Given the description of an element on the screen output the (x, y) to click on. 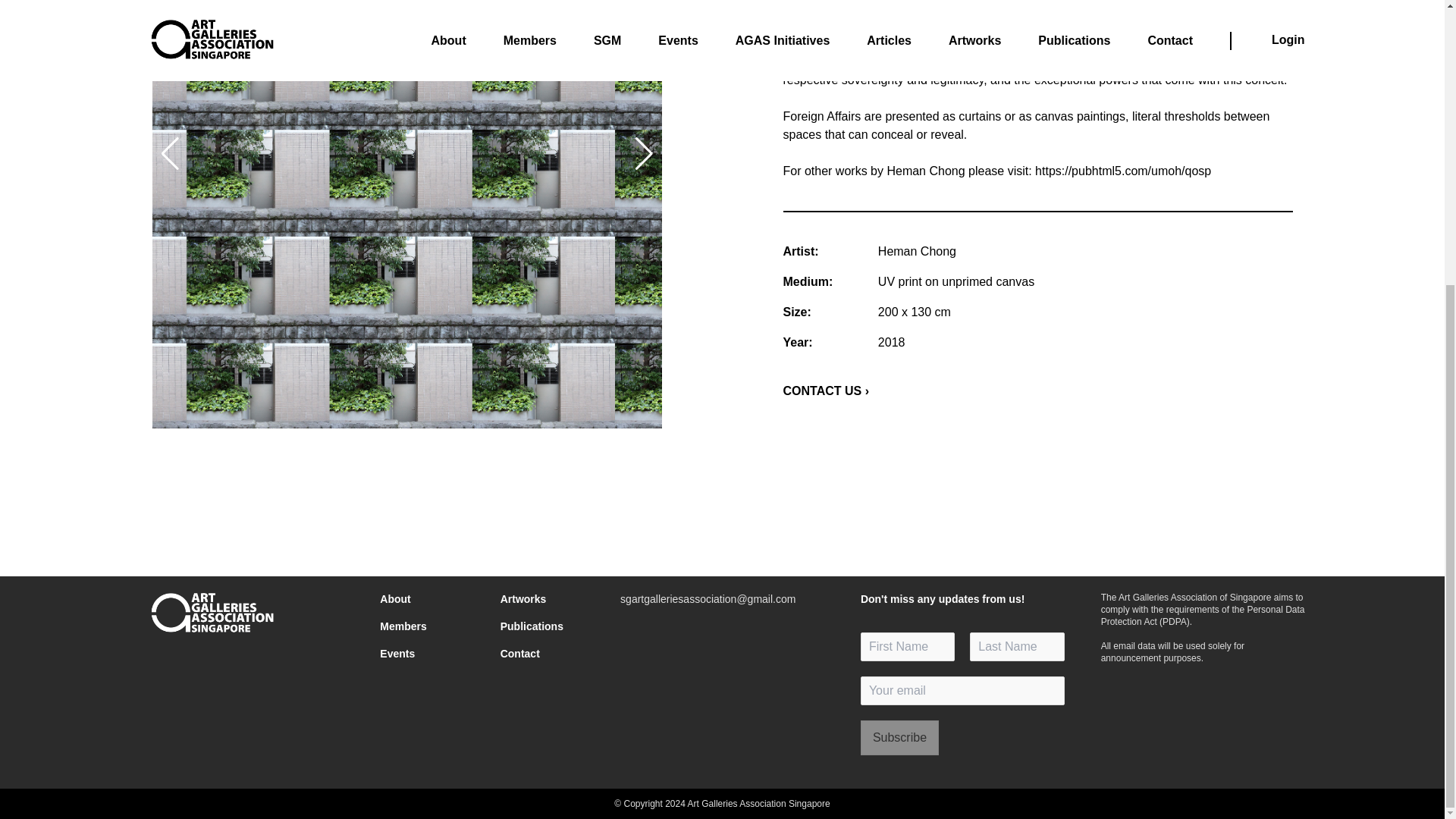
Artworks (541, 598)
Members (421, 626)
Publications (541, 626)
About (421, 598)
Events (421, 653)
Contact (541, 653)
Subscribe (899, 737)
